Given the description of an element on the screen output the (x, y) to click on. 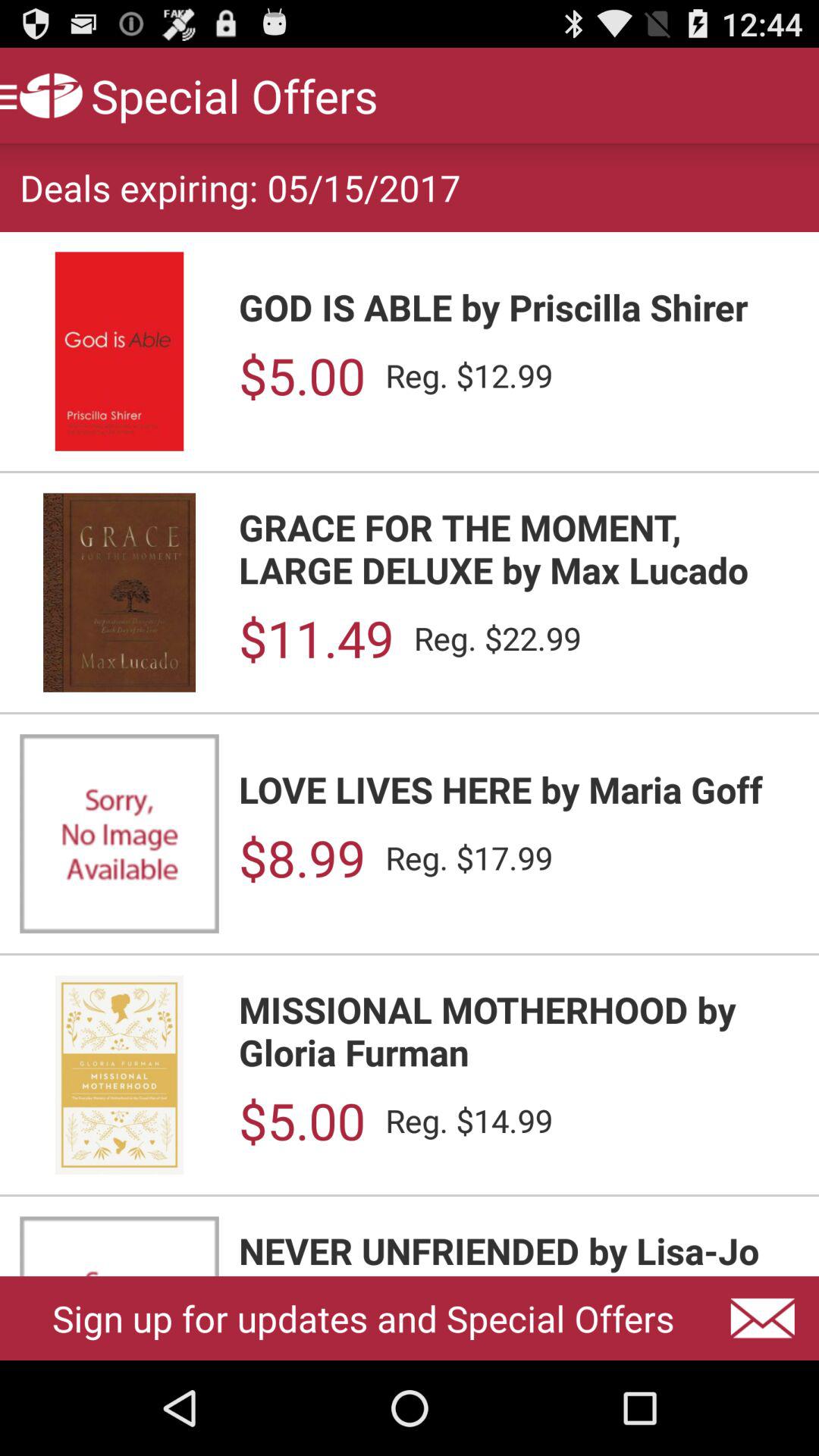
flip until the love lives here item (518, 788)
